Given the description of an element on the screen output the (x, y) to click on. 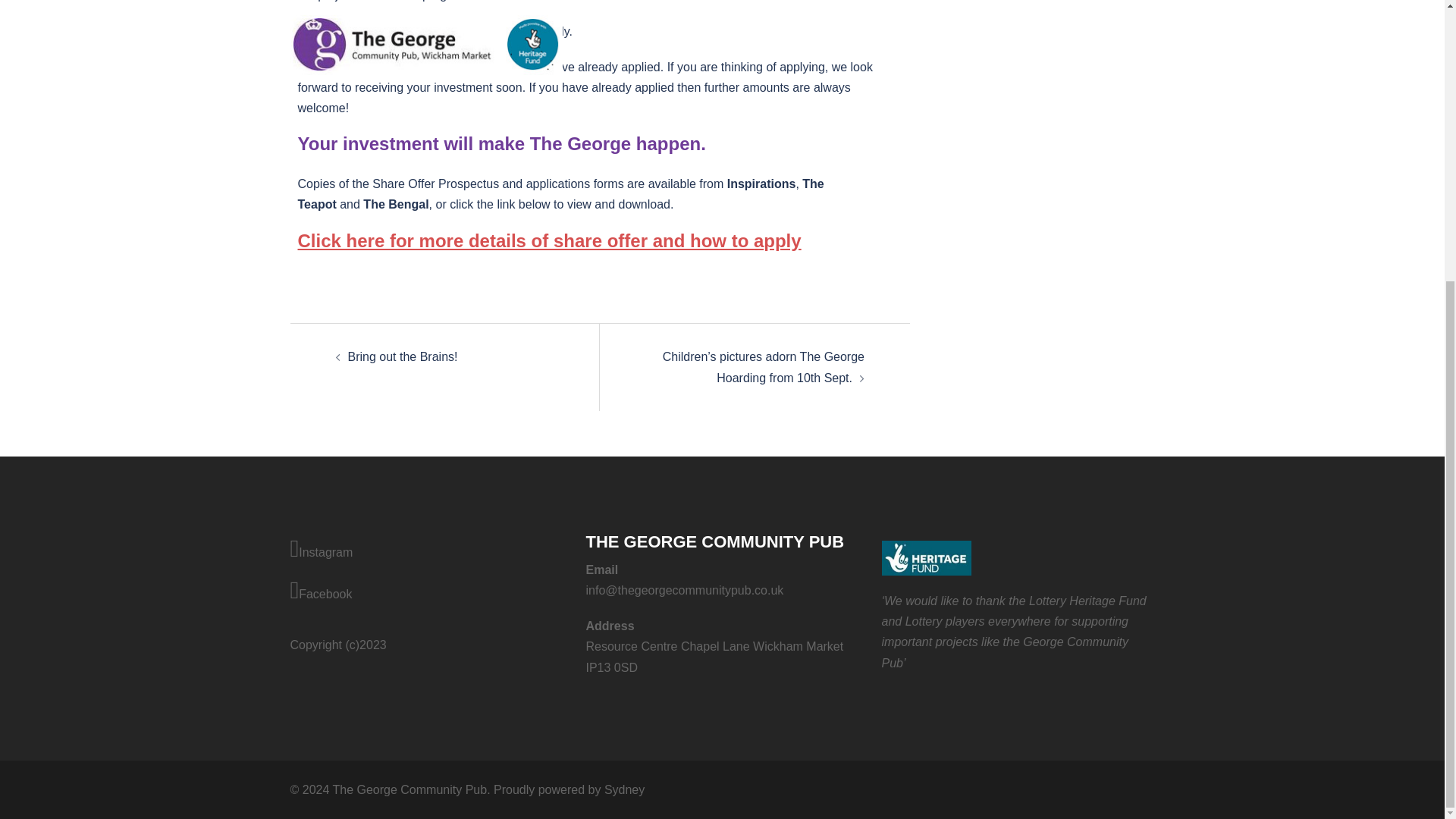
Instagram (425, 549)
Sydney (624, 789)
Visit The George Community Pub on Facebook (425, 591)
Facebook (425, 591)
Bring out the Brains! (402, 356)
Visit The George Community Pub on Instagram (425, 549)
Click here for more details of share offer and how to apply (548, 240)
